Given the description of an element on the screen output the (x, y) to click on. 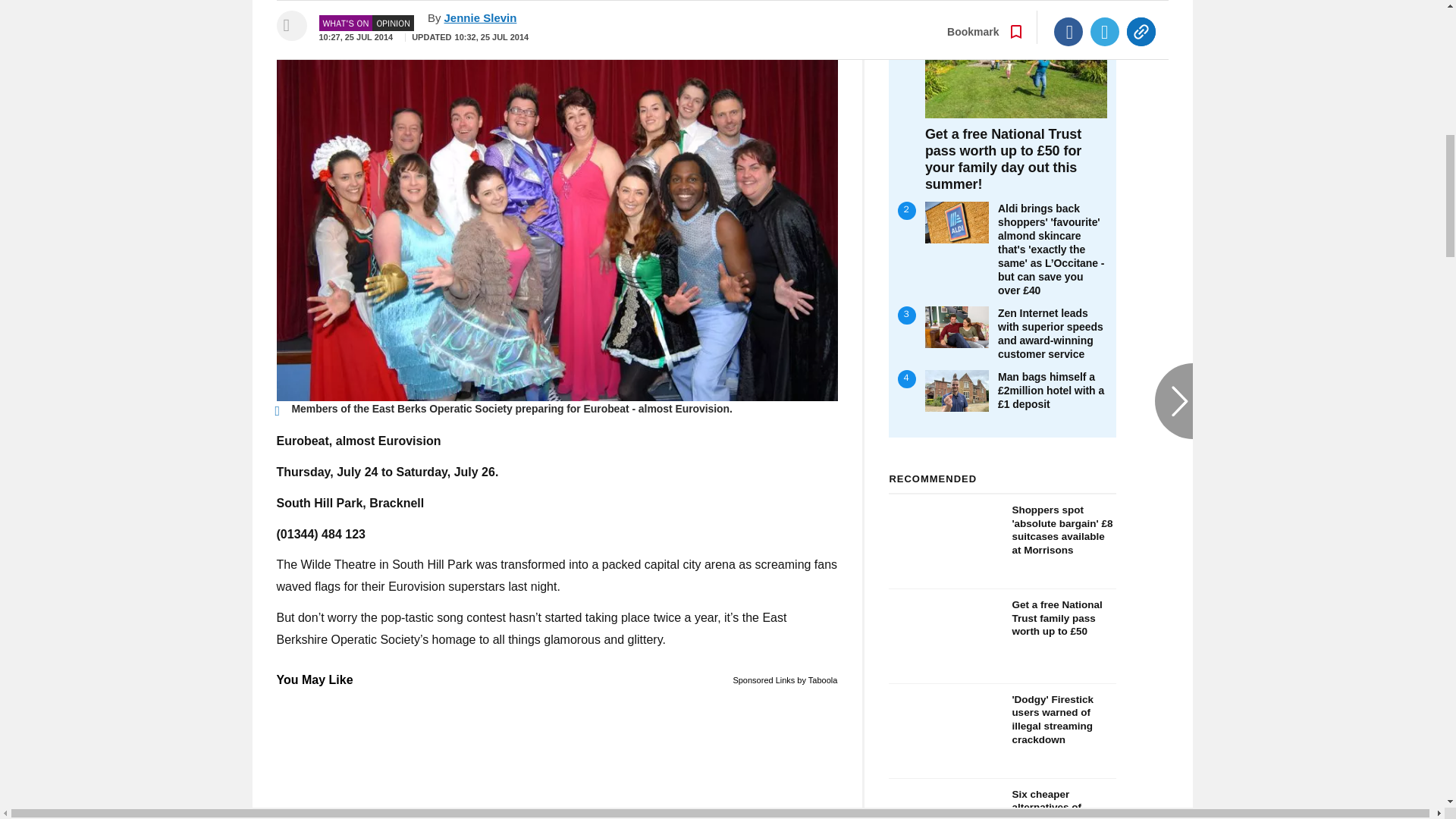
If you own a mouse, play it for 1 minute. (557, 755)
